Given the description of an element on the screen output the (x, y) to click on. 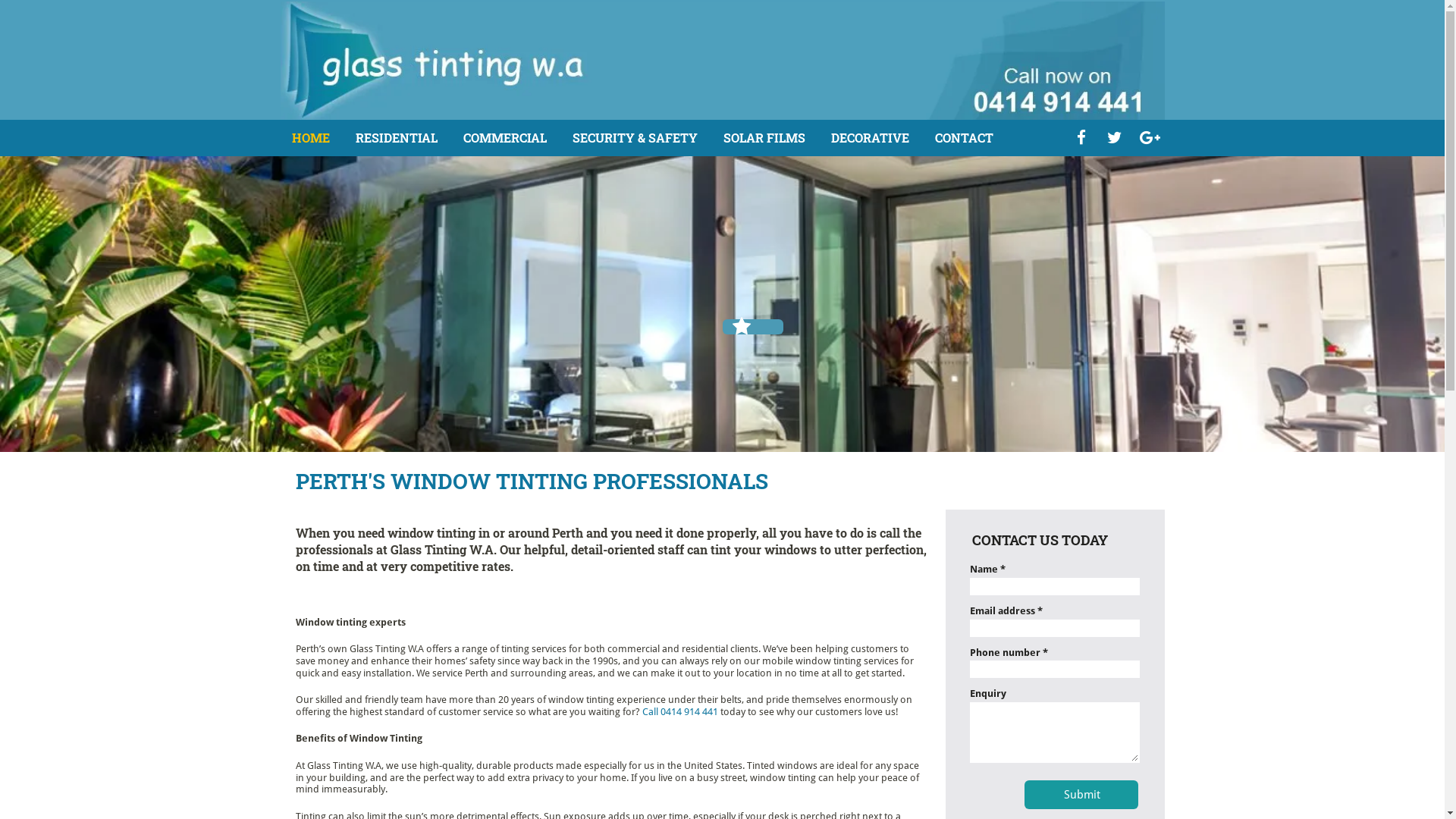
SECURITY & SAFETY Element type: text (633, 137)
CONTACT Element type: text (963, 137)
Call 0414 914 441 Element type: text (679, 711)
Glass Tinting WA Element type: hover (722, 60)
RESIDENTIAL Element type: text (395, 137)
DECORATIVE Element type: text (870, 137)
Submit Element type: text (1082, 794)
COMMERCIAL Element type: text (504, 137)
HOME Element type: text (310, 137)
SOLAR FILMS Element type: text (764, 137)
